Given the description of an element on the screen output the (x, y) to click on. 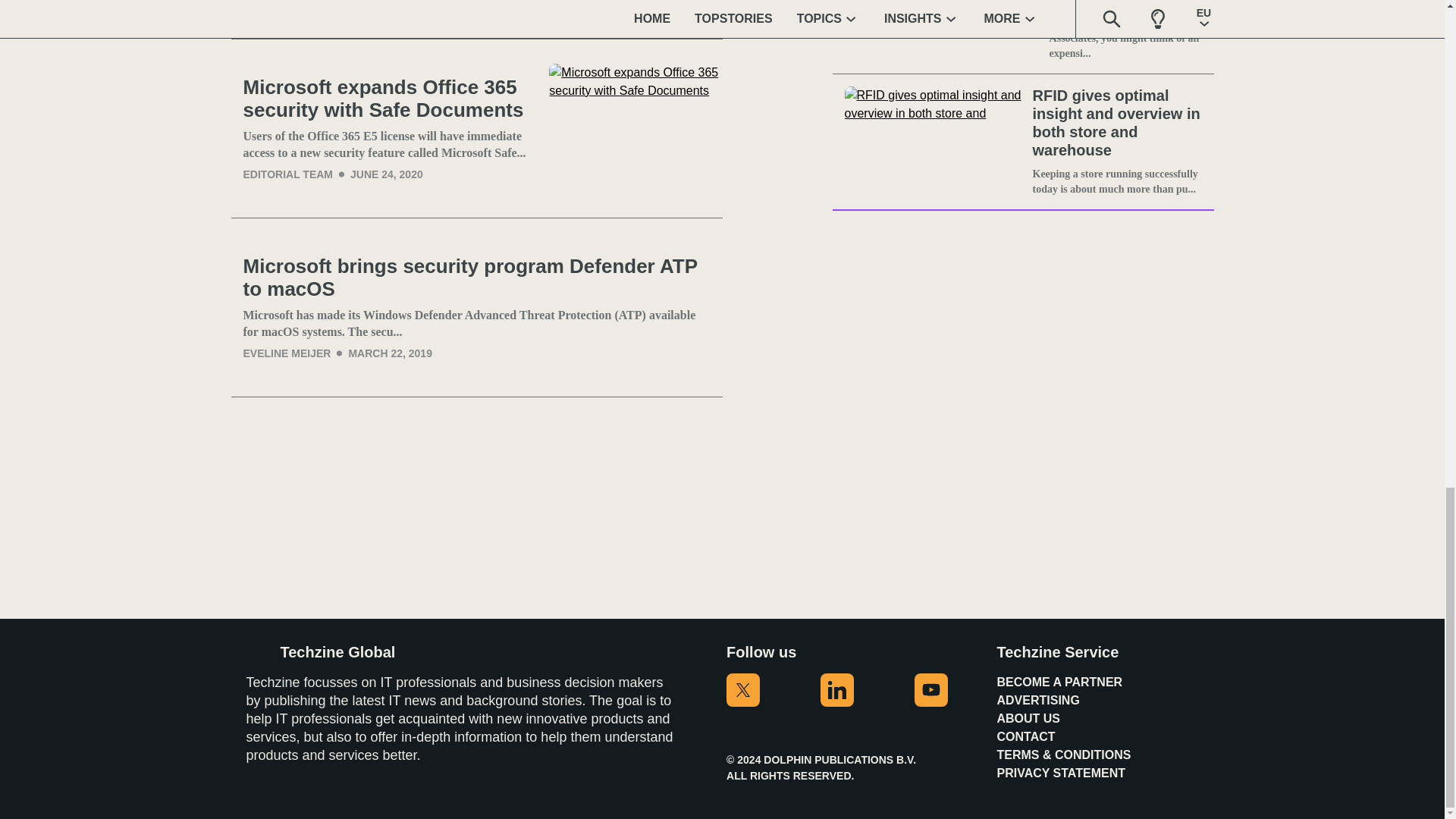
Microsoft expands Office 365 security with Safe Documents (635, 128)
Microsoft Defender ATP gets built-in firmware protection (641, 7)
Microsoft brings security program Defender ATP to macOS (476, 277)
Microsoft expands Office 365 security with Safe Documents (390, 99)
